Given the description of an element on the screen output the (x, y) to click on. 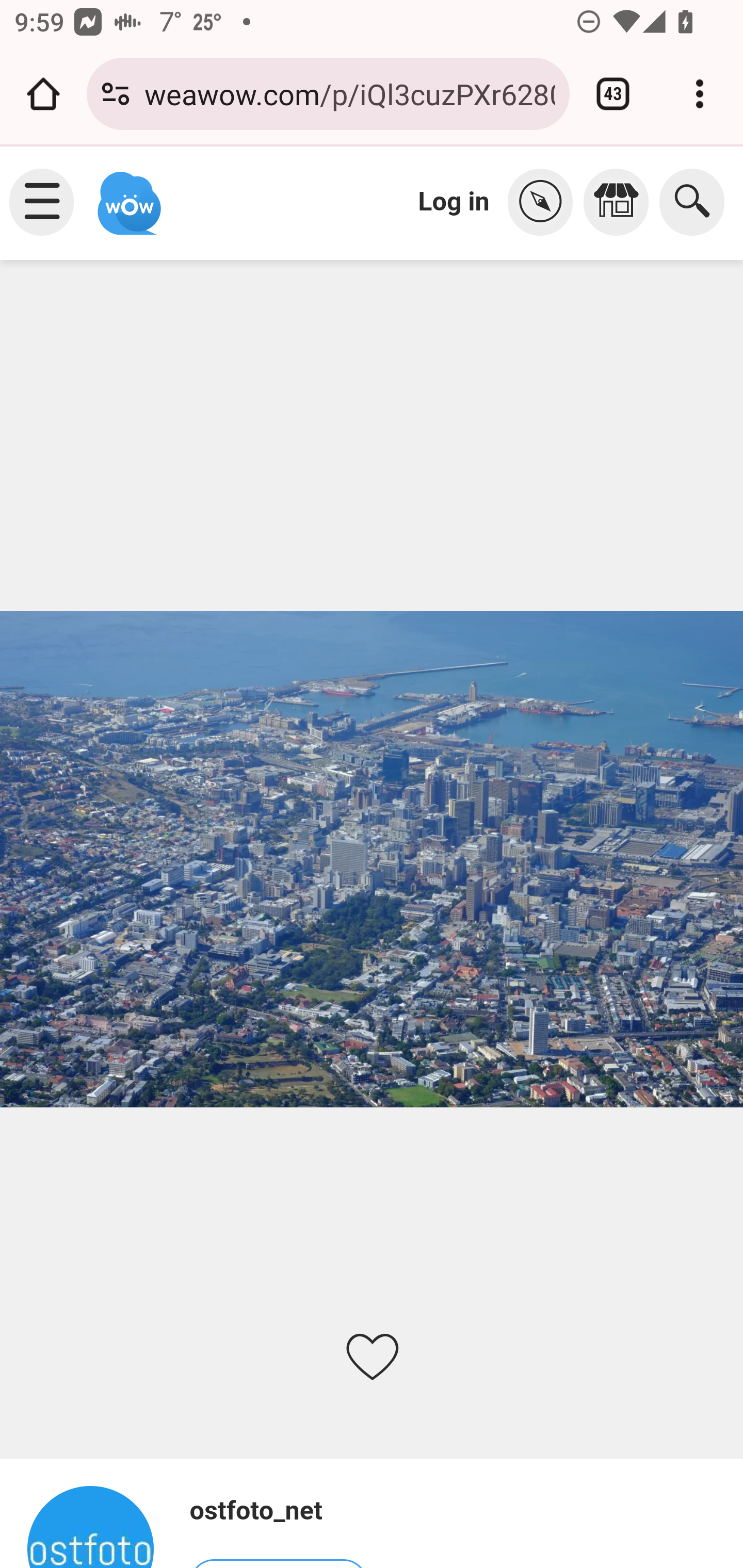
Open the home page (43, 93)
Connection is secure (115, 93)
Switch or close tabs (612, 93)
Customize and control Google Chrome (699, 93)
weawow.com/p/iQl3cuzPXr628097 (349, 92)
Weawow (127, 194)
 (545, 201)
 (621, 201)
Log in (453, 201)
ostfoto_net (99, 1525)
ostfoto_net (277, 1510)
